Given the description of an element on the screen output the (x, y) to click on. 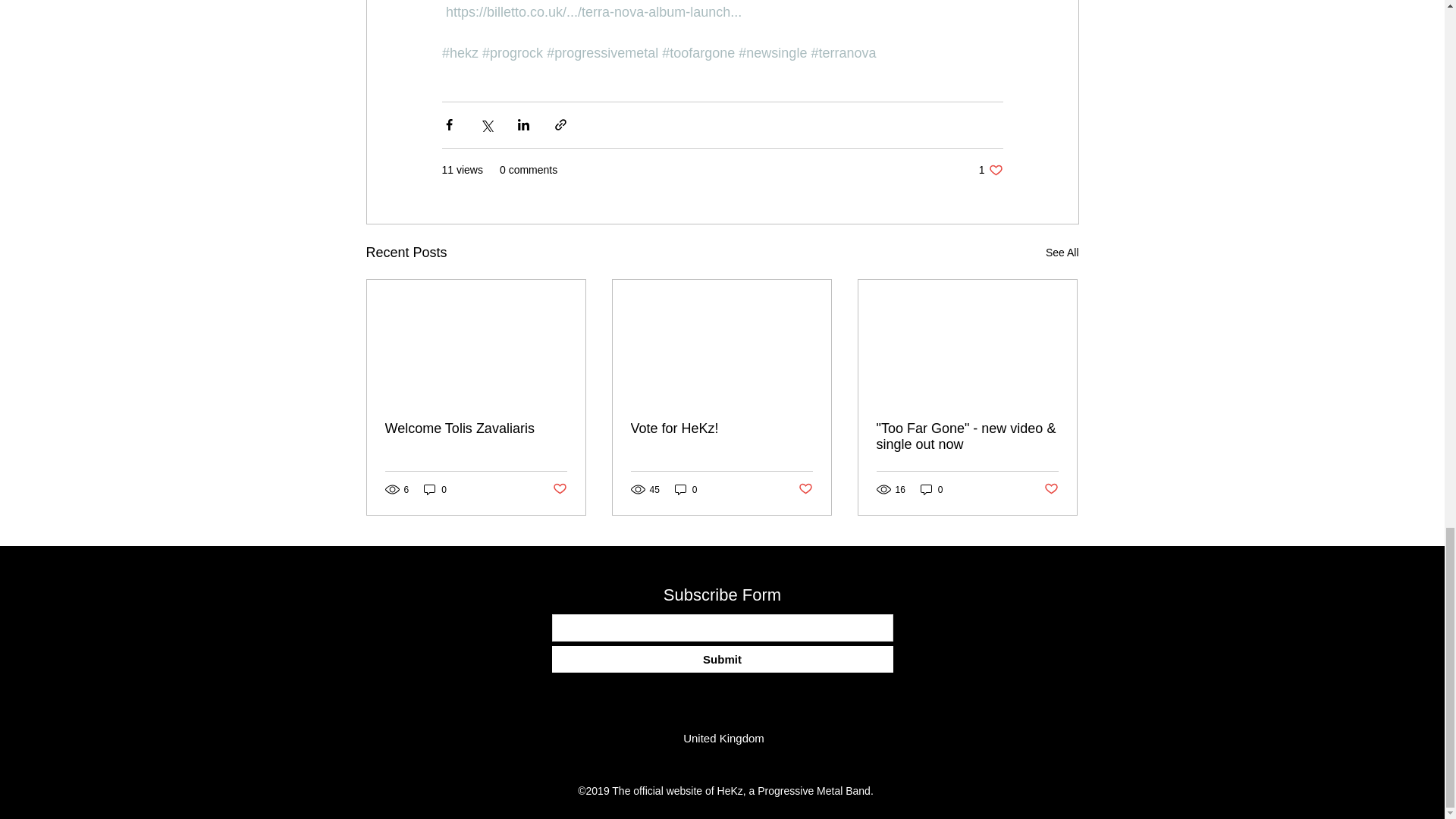
0 (685, 489)
See All (1061, 252)
Vote for HeKz! (721, 428)
Post not marked as liked (804, 489)
Welcome Tolis Zavaliaris (476, 428)
Post not marked as liked (558, 489)
0 (990, 169)
